Given the description of an element on the screen output the (x, y) to click on. 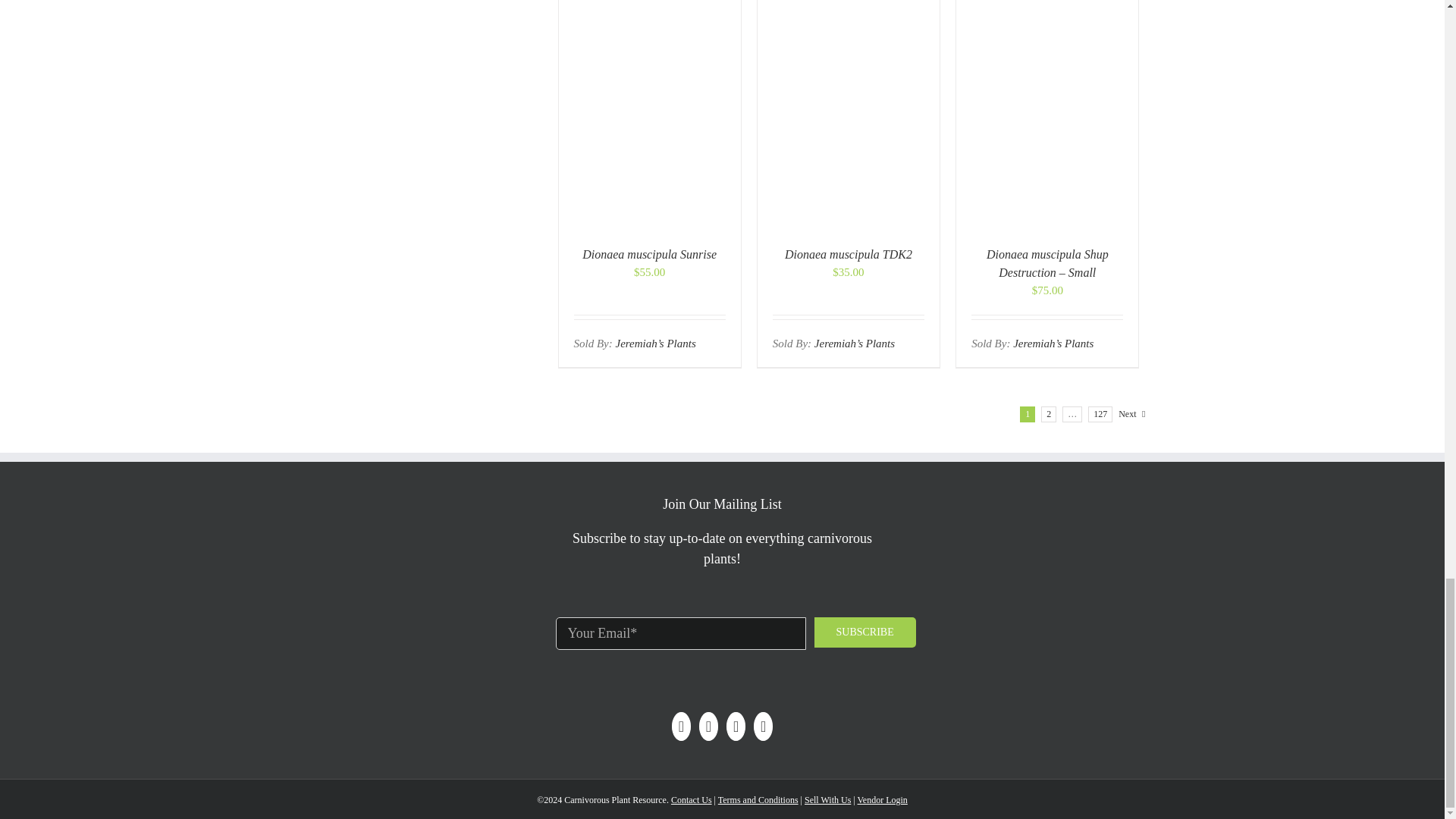
Subscribe (864, 632)
